Given the description of an element on the screen output the (x, y) to click on. 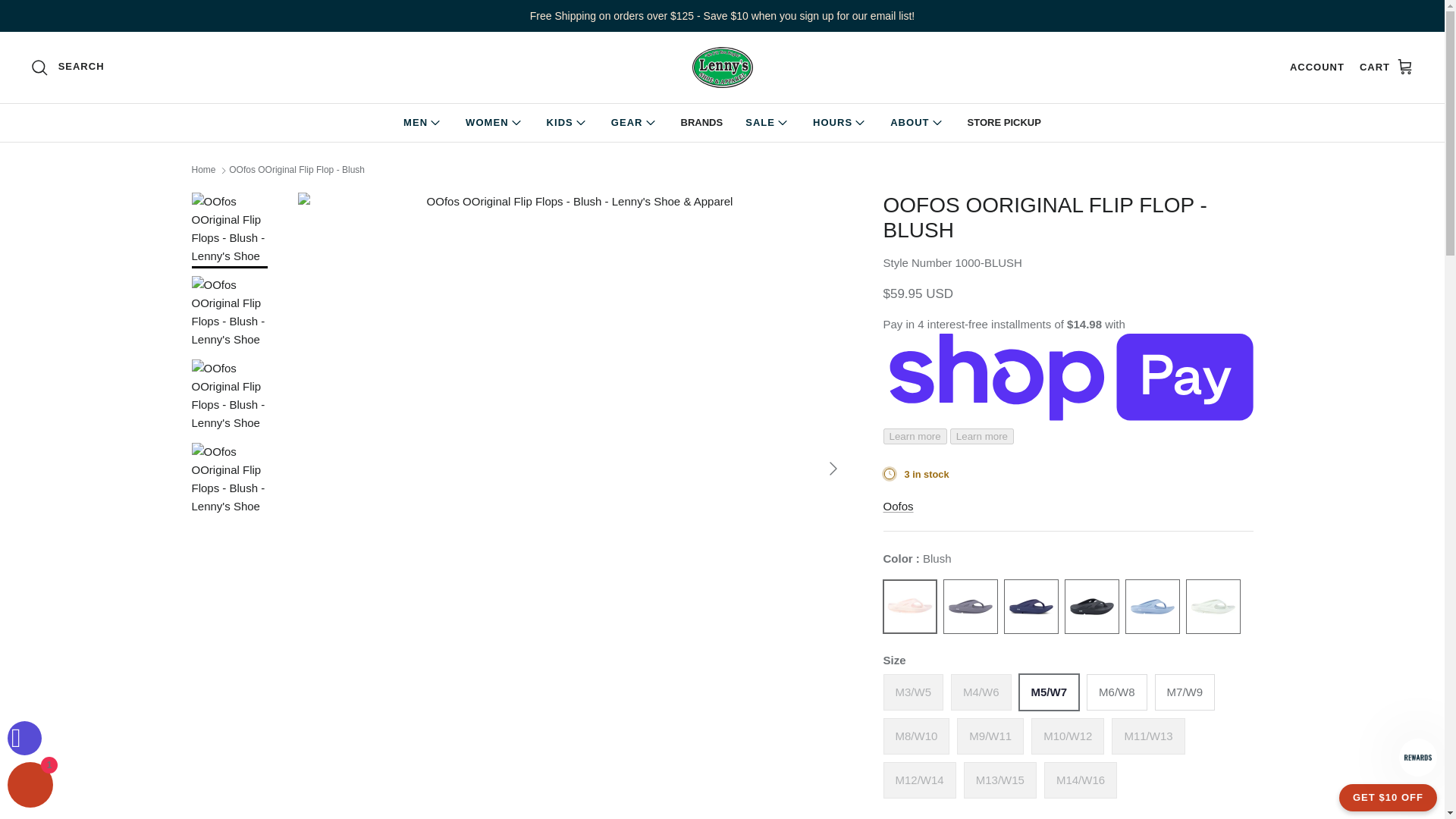
ACCOUNT (1316, 67)
CART (1386, 66)
MEN (422, 122)
RIGHT (832, 468)
Shopify online store chat (30, 786)
SEARCH (67, 67)
